Given the description of an element on the screen output the (x, y) to click on. 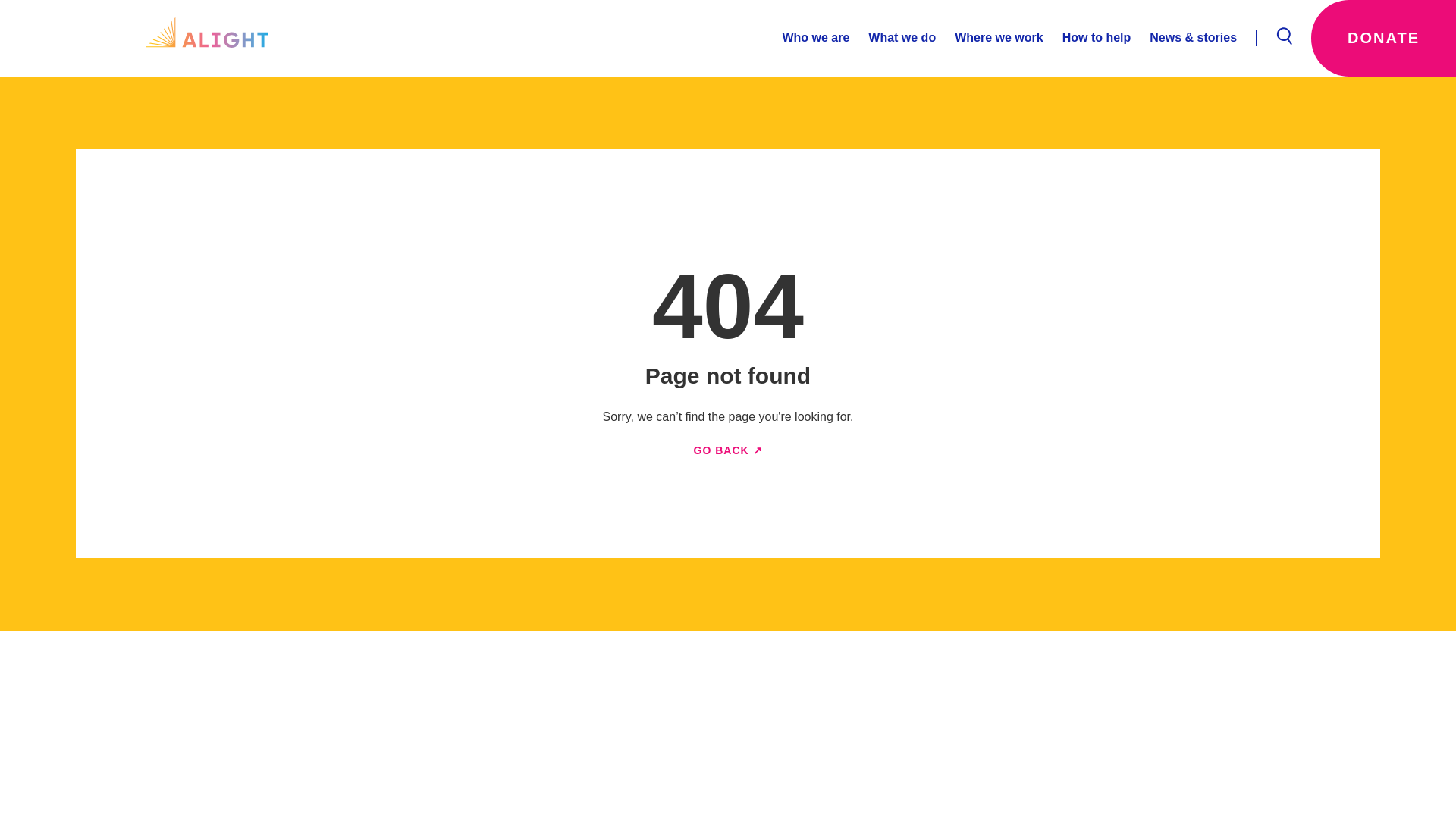
What we do (892, 37)
Who we are (814, 37)
Where we work (989, 37)
